Given the description of an element on the screen output the (x, y) to click on. 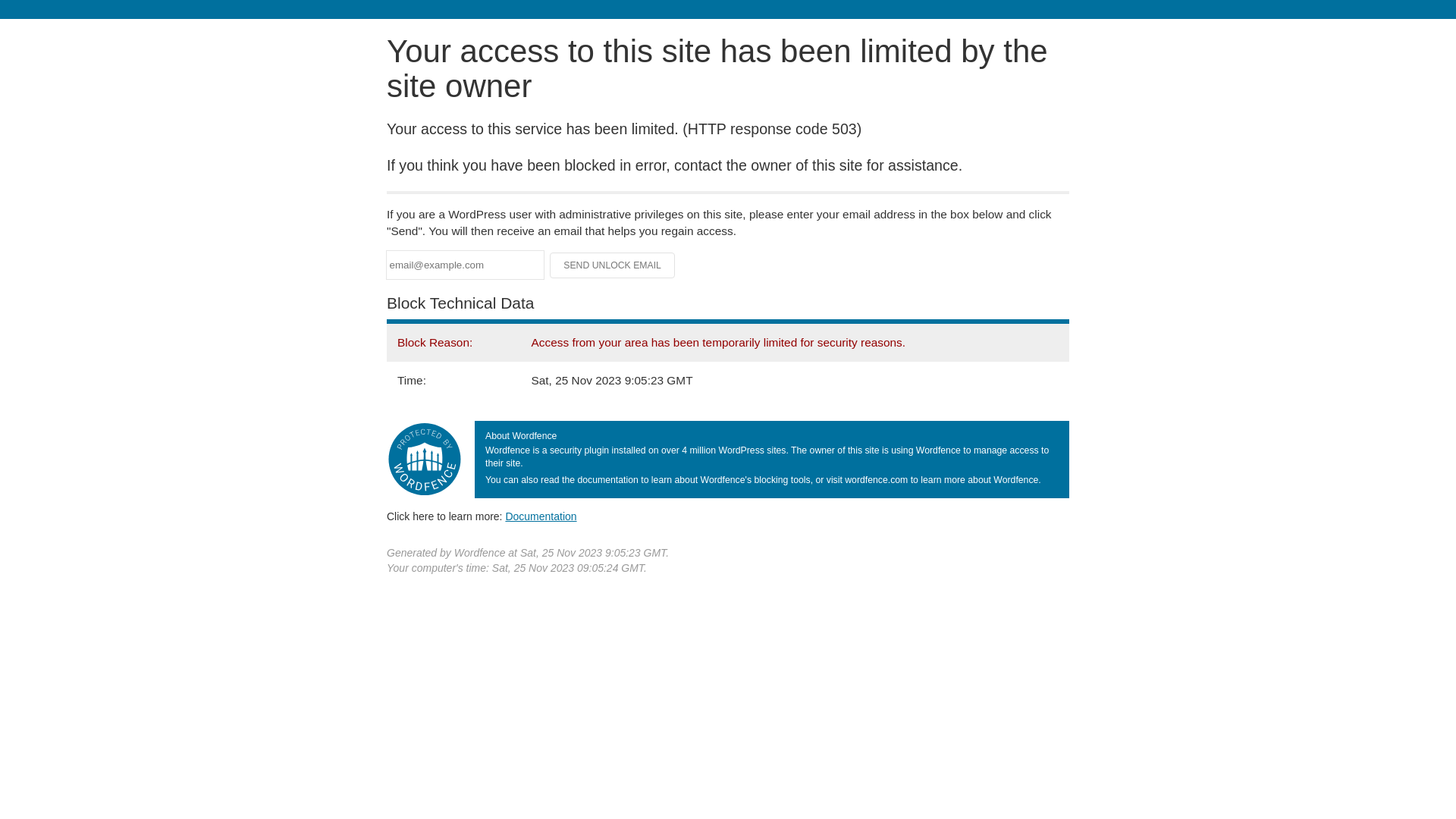
Send Unlock Email Element type: text (612, 265)
Documentation Element type: text (540, 516)
